Given the description of an element on the screen output the (x, y) to click on. 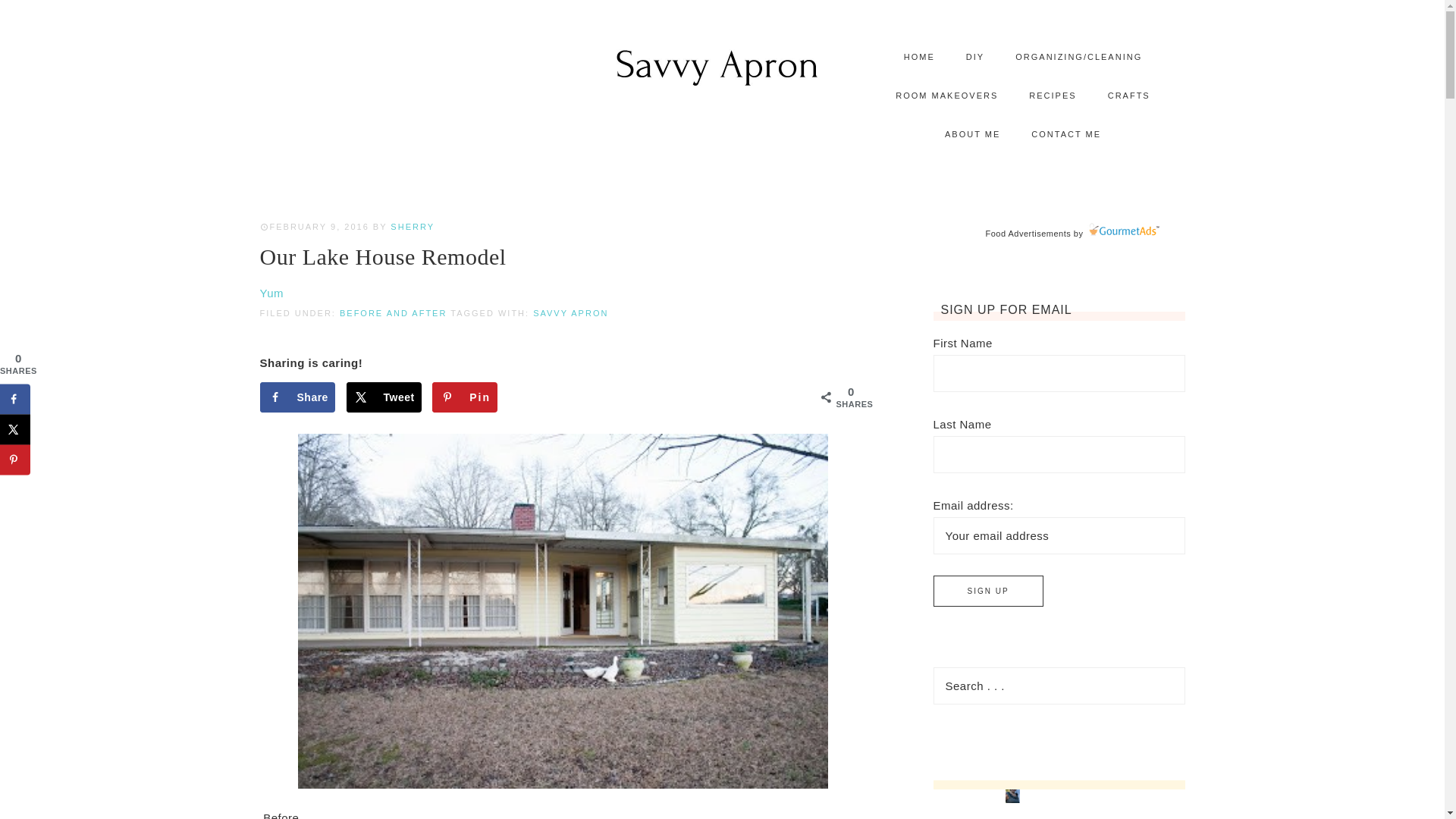
Tweet (384, 397)
SAVVY APRON (570, 312)
SHERRY (411, 225)
Share on X (384, 397)
Sign up (987, 590)
Food Advertisements (1027, 233)
Save to Pinterest (15, 459)
HOME (919, 56)
Share on Facebook (296, 397)
Sign up (987, 590)
Save to Pinterest (464, 397)
Food Advertisements (1027, 233)
Yum (271, 292)
